Given the description of an element on the screen output the (x, y) to click on. 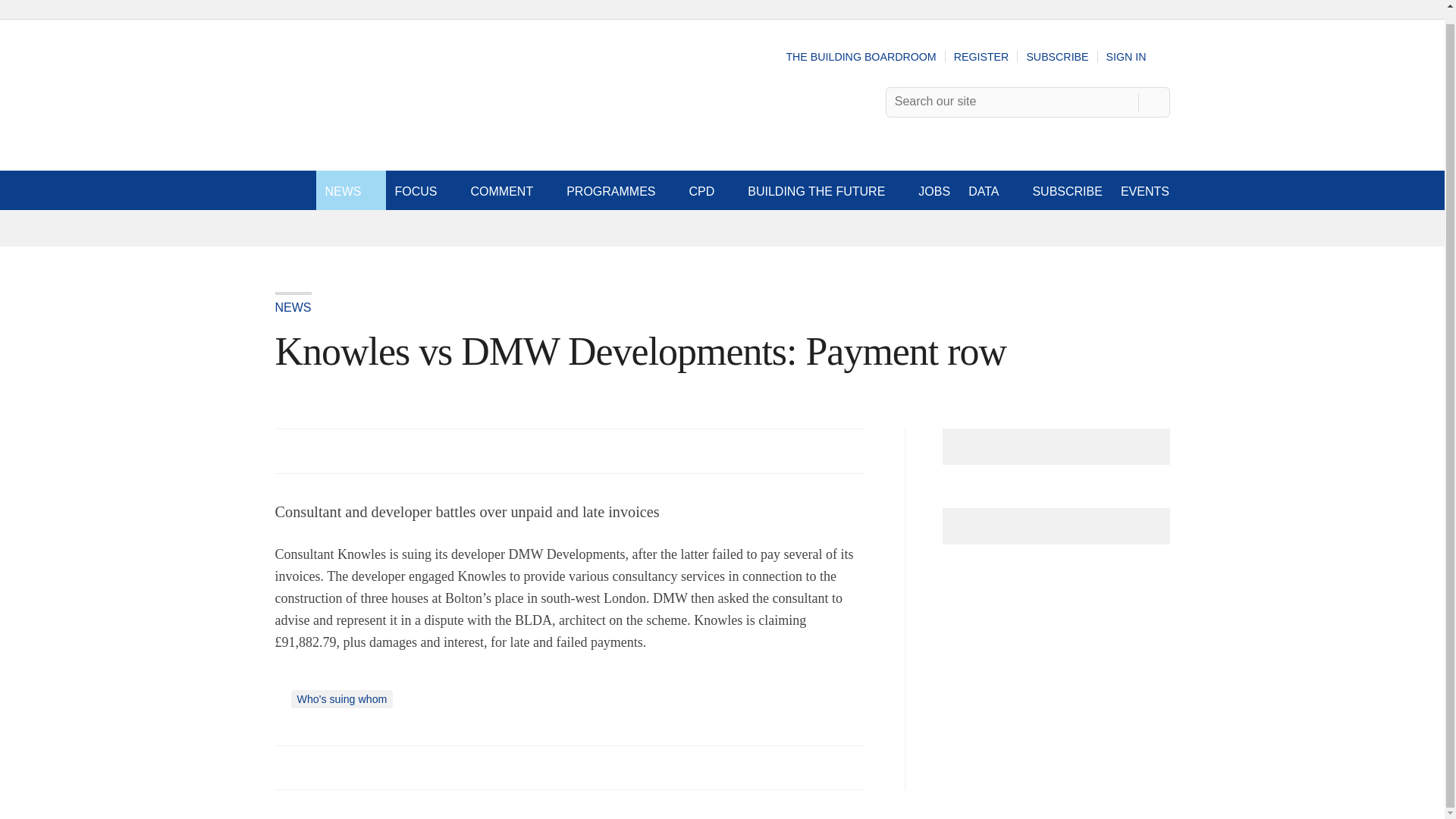
SUBSCRIBE (1056, 56)
Email this article (386, 767)
REGISTER (981, 56)
Share this on Twitter (320, 767)
Share this on Facebook (288, 767)
SIGN IN (1138, 56)
Share this on Twitter (320, 450)
Email this article (386, 450)
THE BUILDING BOARDROOM (861, 56)
SEARCH (1153, 102)
